Given the description of an element on the screen output the (x, y) to click on. 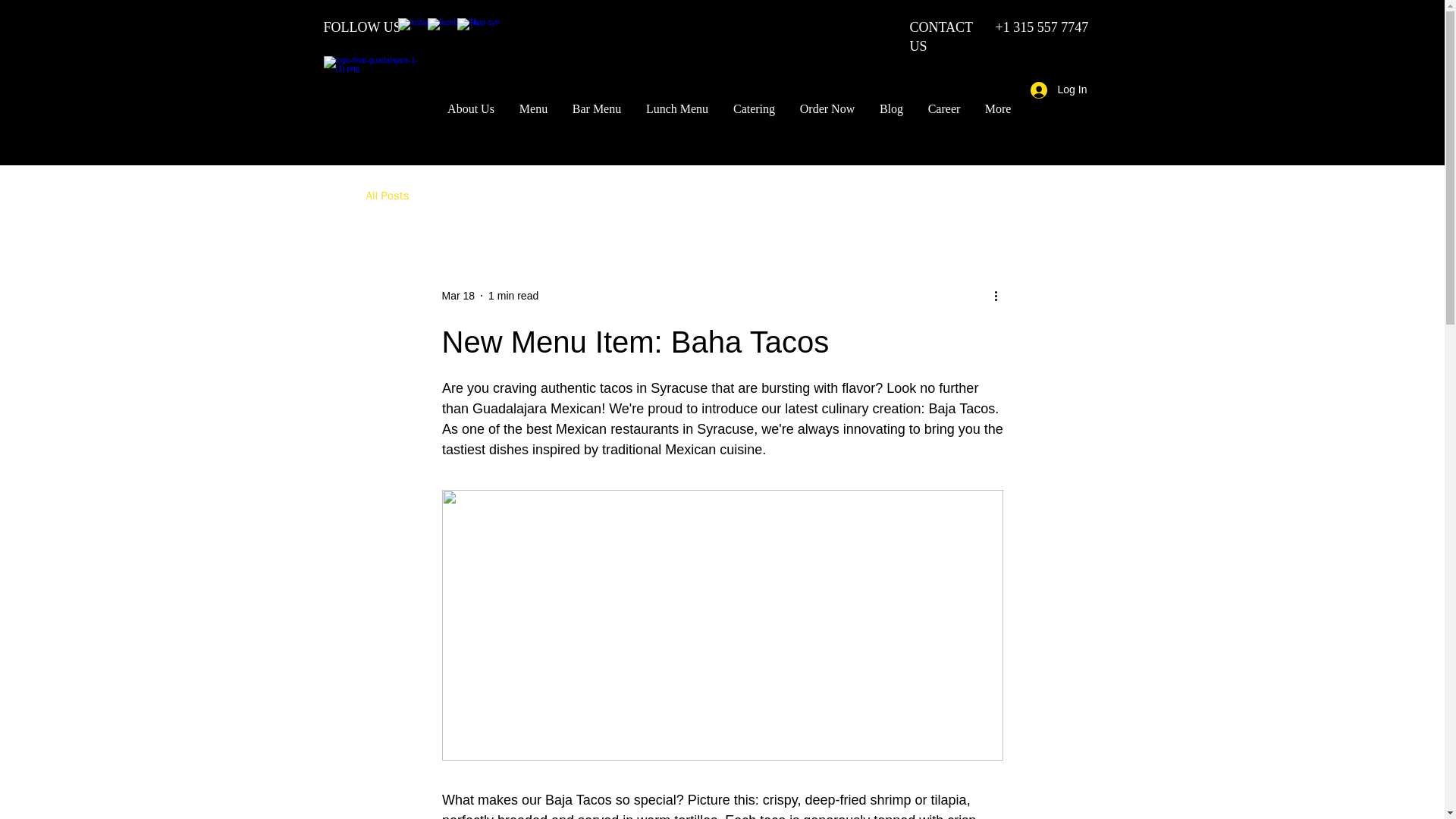
Order Now (826, 108)
Mar 18 (457, 295)
Menu (532, 108)
Career (943, 108)
Log In (1056, 89)
Blog (891, 108)
Lunch Menu (676, 108)
Bar Menu (596, 108)
1 min read (512, 295)
All Posts (387, 196)
